Given the description of an element on the screen output the (x, y) to click on. 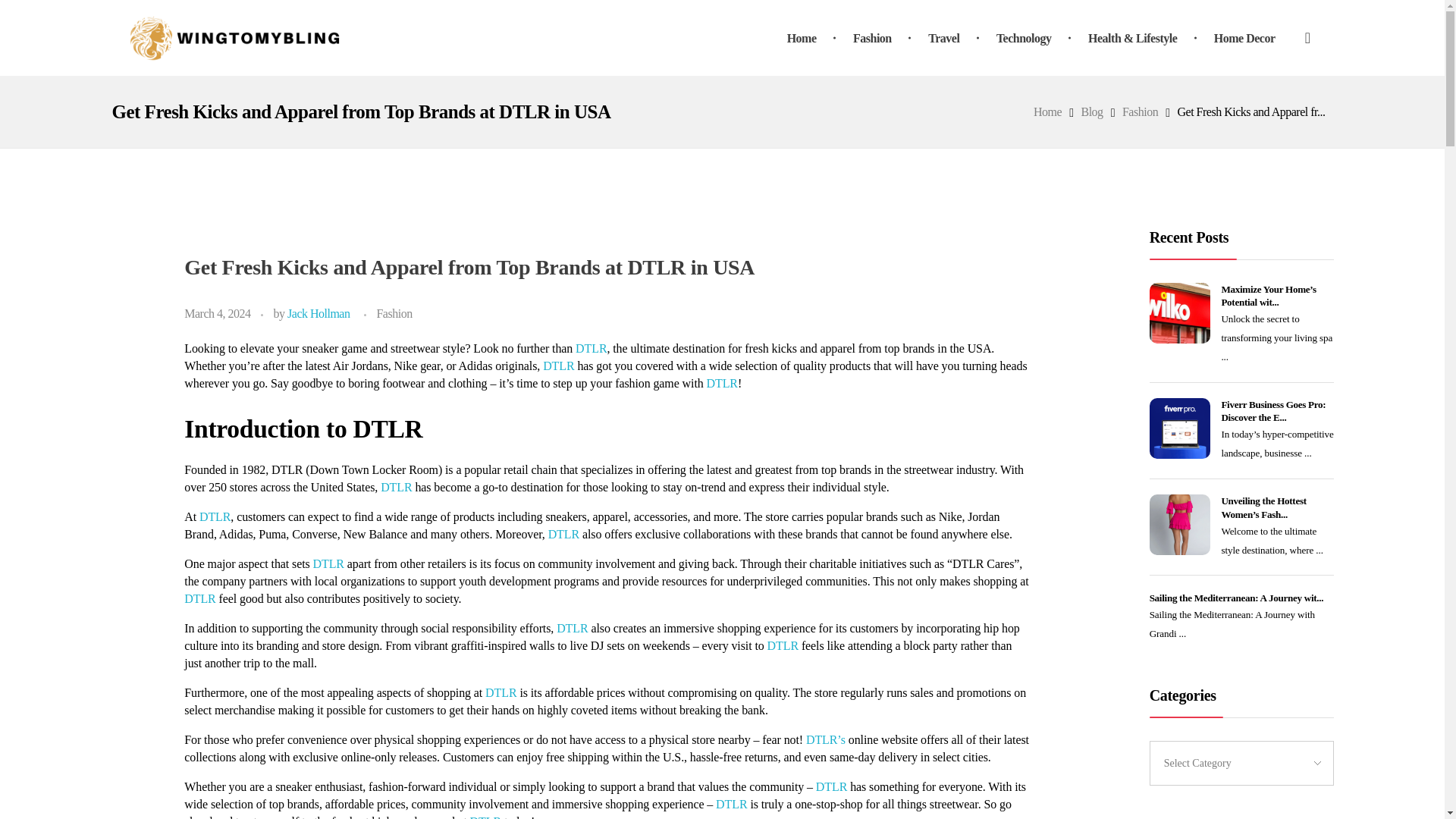
Blog (1092, 111)
View all posts by Jack Hollman (317, 313)
Home (812, 37)
Fashion (874, 37)
Blog (1092, 111)
DTLR (784, 645)
Jack Hollman (317, 313)
DTLR (330, 563)
DTLR (832, 786)
DTLR (397, 486)
